Given the description of an element on the screen output the (x, y) to click on. 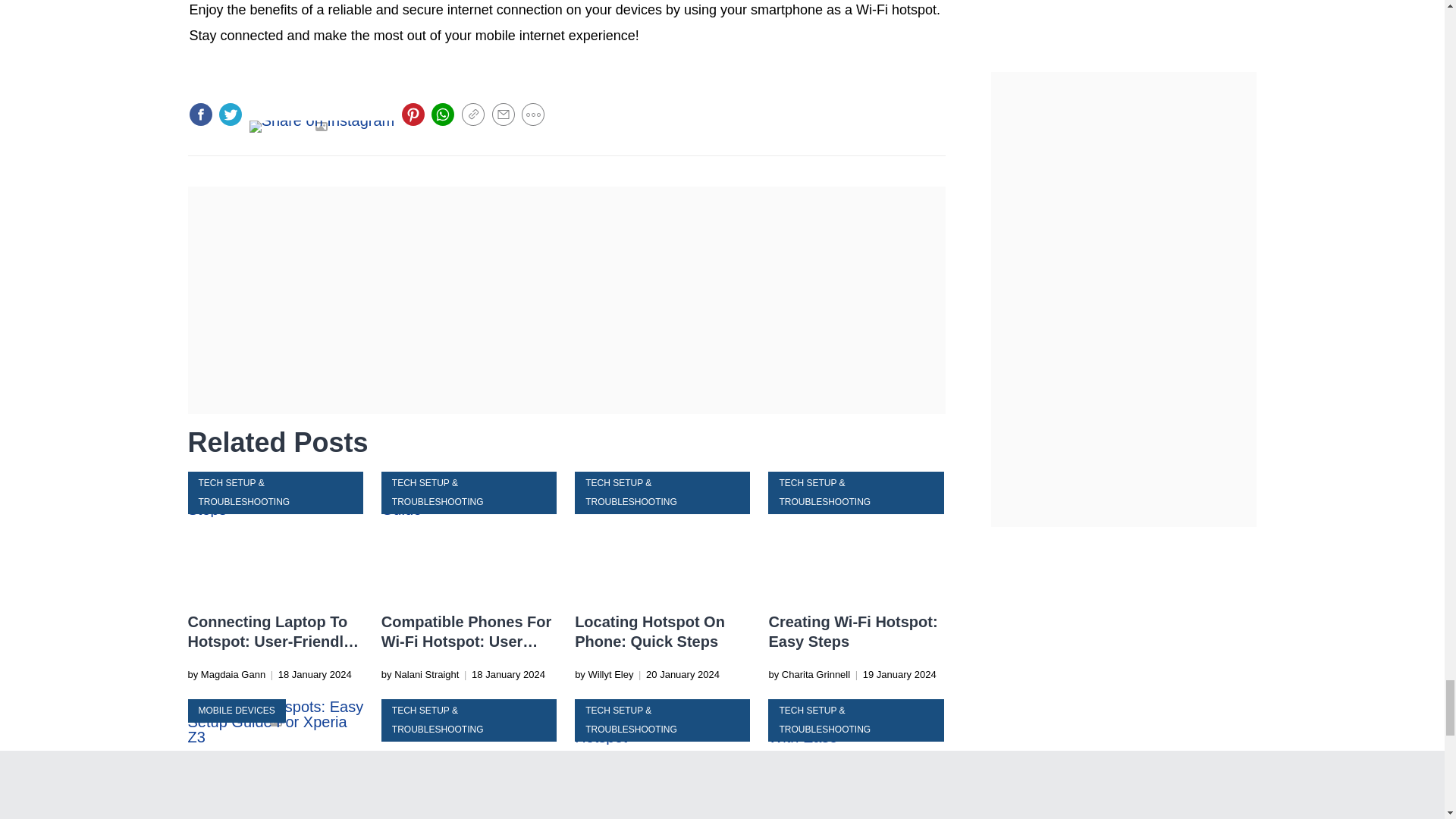
Share on facebook (200, 114)
Share on twitter (230, 114)
